Given the description of an element on the screen output the (x, y) to click on. 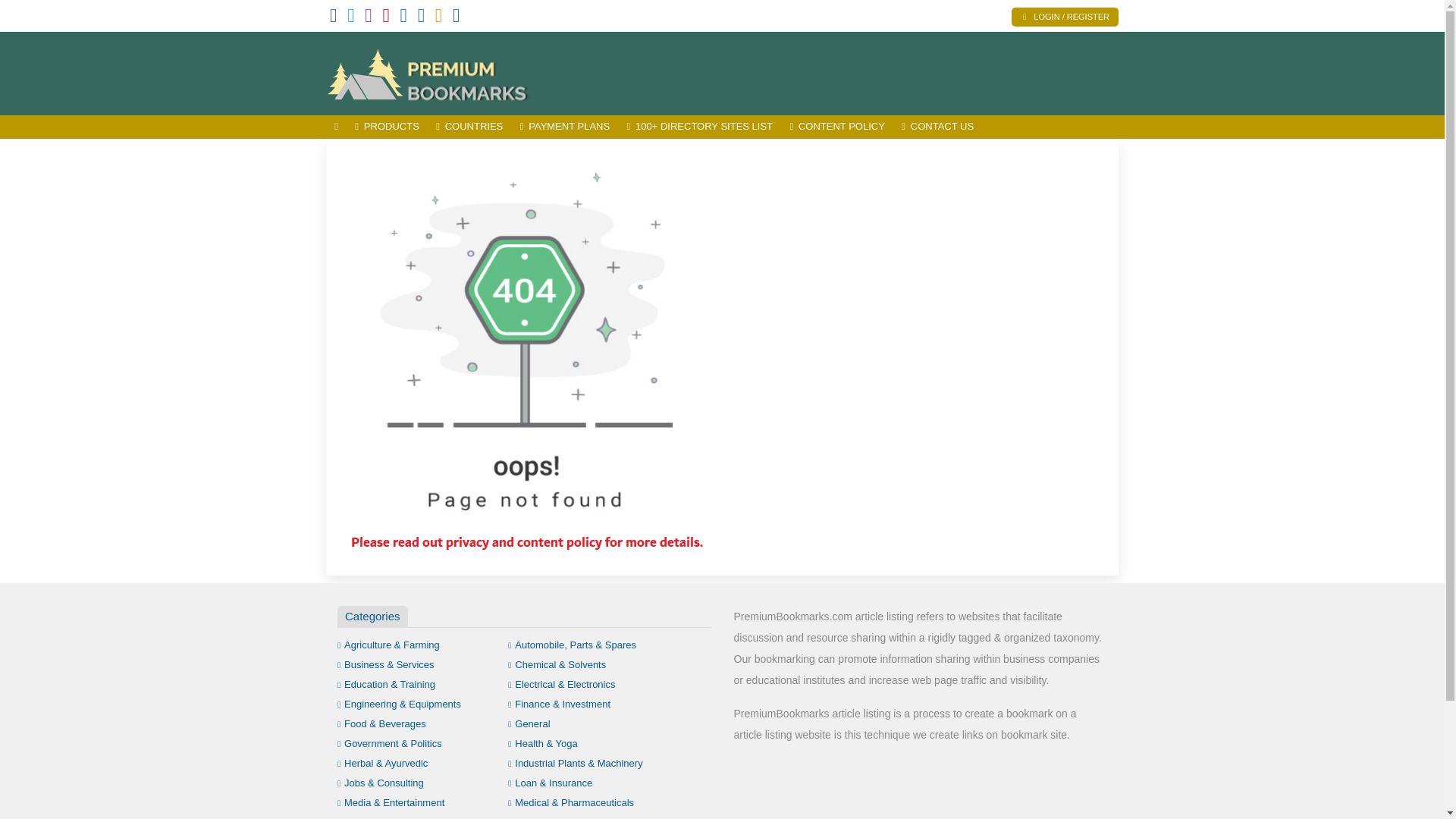
PRODUCTS (387, 126)
COUNTRIES (469, 126)
CONTENT POLICY (836, 126)
CONTACT US (937, 126)
PAYMENT PLANS (564, 126)
General (529, 723)
